Given the description of an element on the screen output the (x, y) to click on. 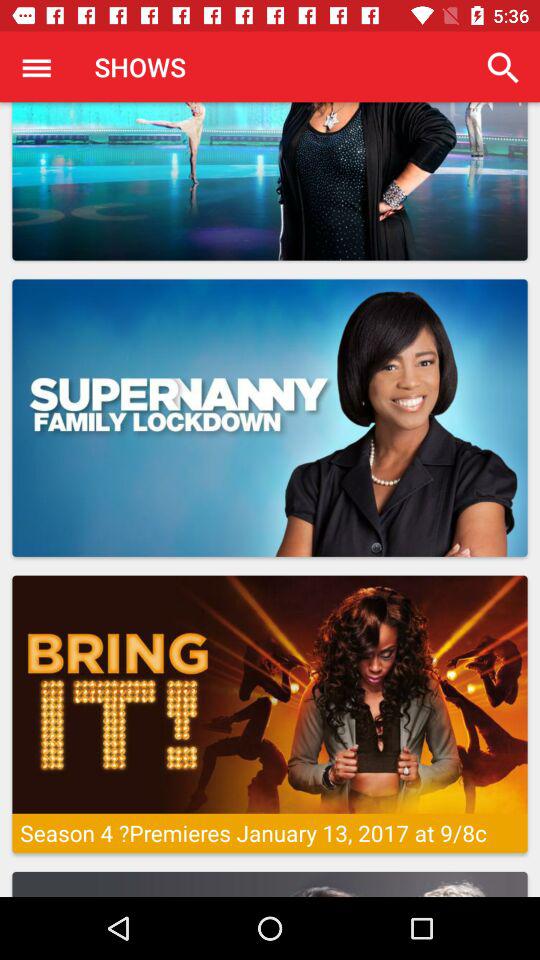
turn on the item to the left of shows (36, 67)
